Given the description of an element on the screen output the (x, y) to click on. 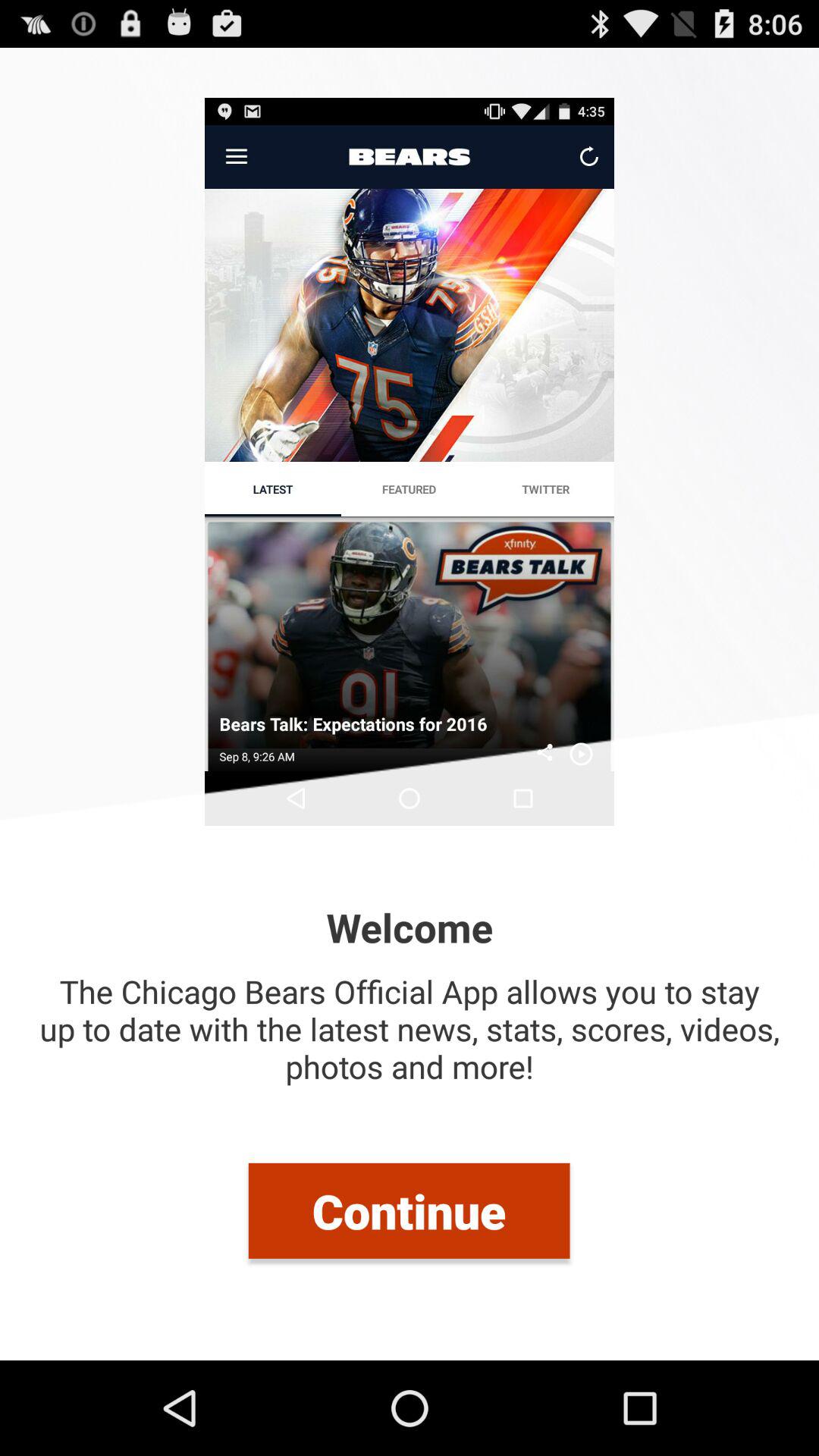
click the continue (408, 1210)
